Given the description of an element on the screen output the (x, y) to click on. 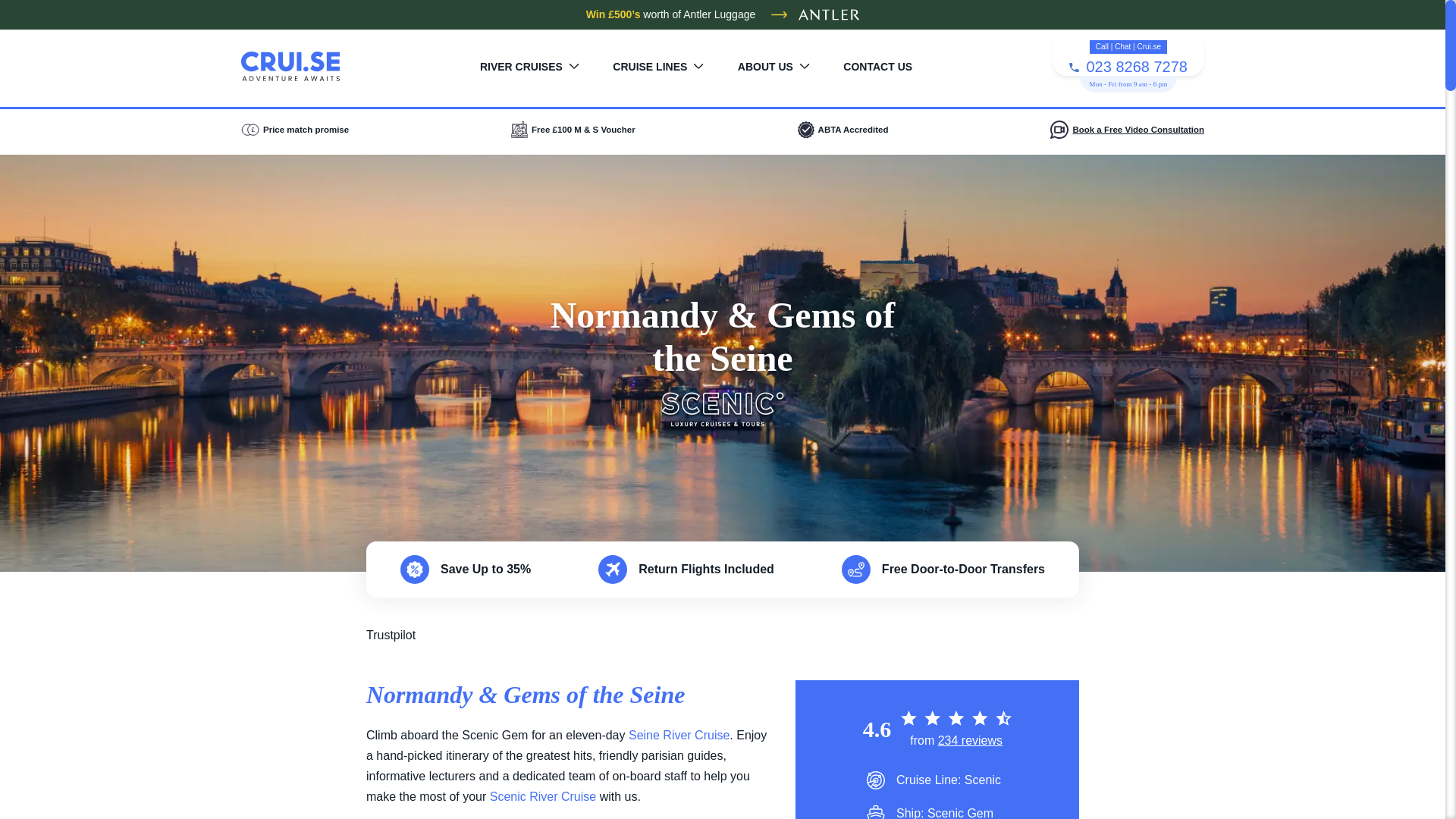
RIVER CRUISES (529, 66)
CRUISE LINES (657, 66)
ABOUT US (773, 66)
CONTACT US (877, 66)
